Given the description of an element on the screen output the (x, y) to click on. 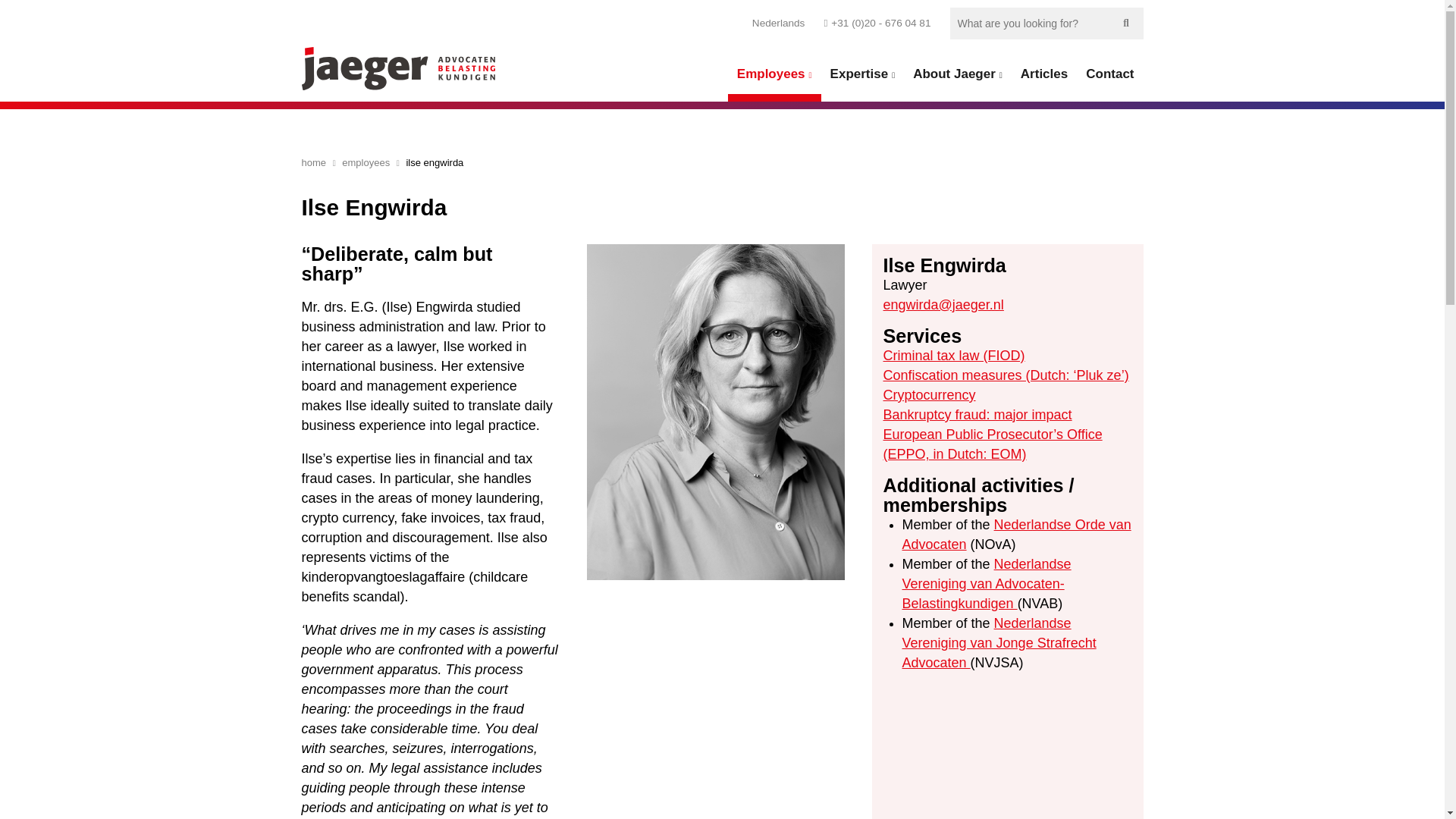
Employees (774, 73)
Nederlands (778, 22)
Expertise (862, 73)
